Given the description of an element on the screen output the (x, y) to click on. 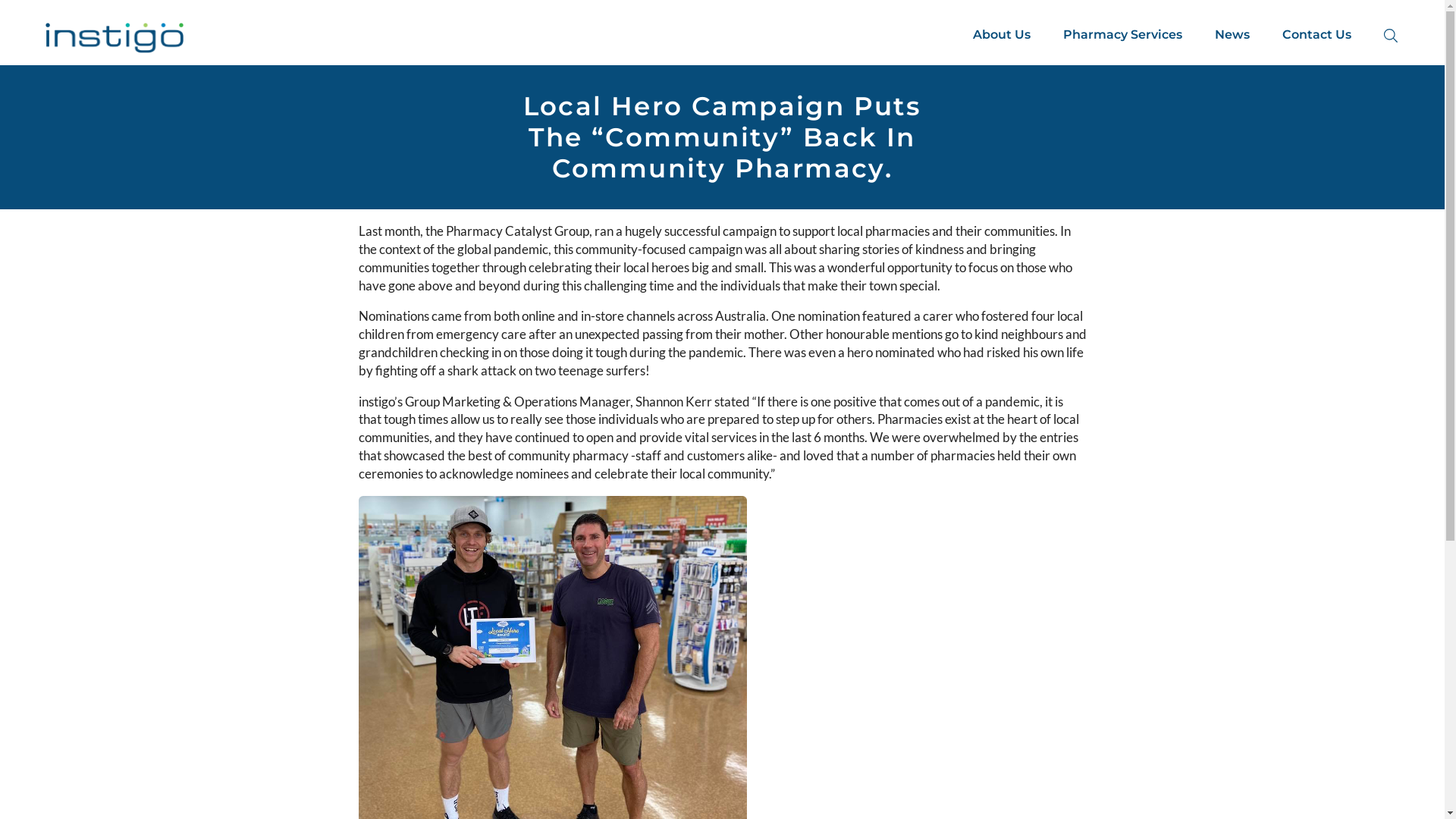
Contact Us Element type: text (1316, 34)
About Us Element type: text (1001, 34)
Search Element type: text (5, 12)
Pharmacy Services Element type: text (1122, 34)
News Element type: text (1231, 34)
